Given the description of an element on the screen output the (x, y) to click on. 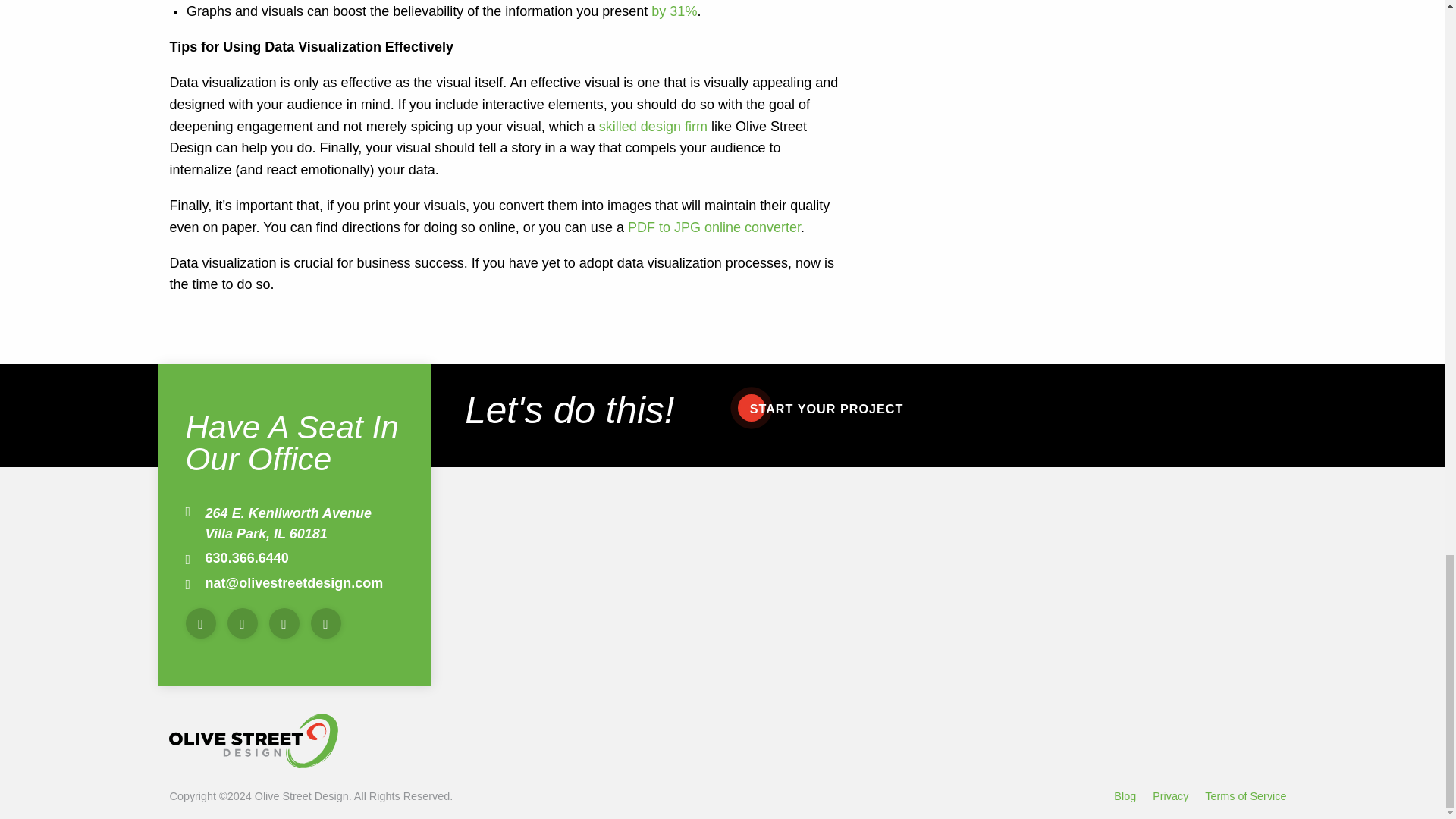
Visit us on YouTube (325, 623)
Visit us on Twitter (242, 623)
Visit us on Instagram (284, 623)
skilled design firm (652, 126)
PDF to JPG online converter (713, 227)
Visit us on Facebook (199, 623)
